Given the description of an element on the screen output the (x, y) to click on. 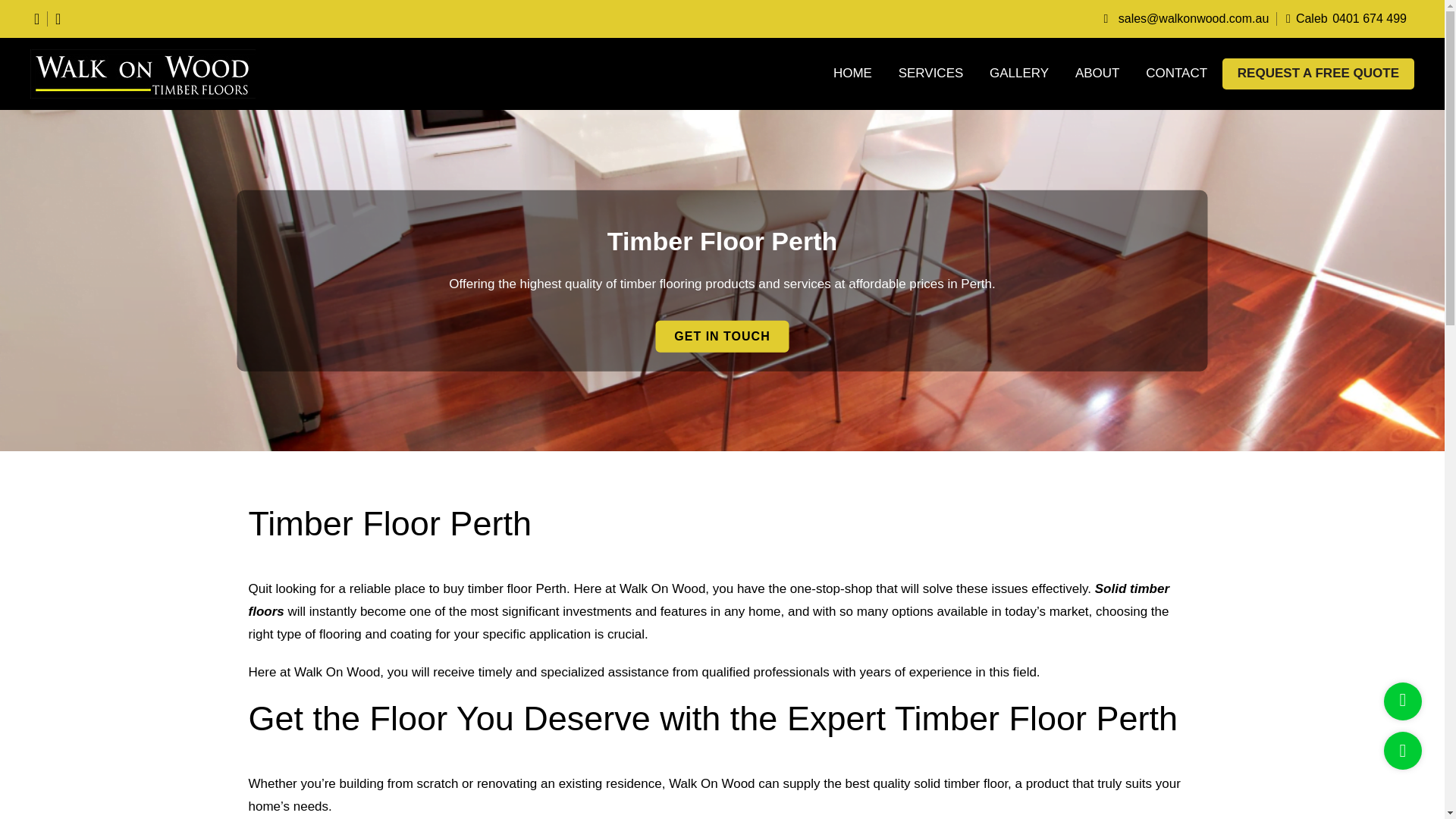
Walk on Wood (151, 73)
HOME (852, 73)
0401 674 499 (1371, 18)
SERVICES (930, 73)
